Given the description of an element on the screen output the (x, y) to click on. 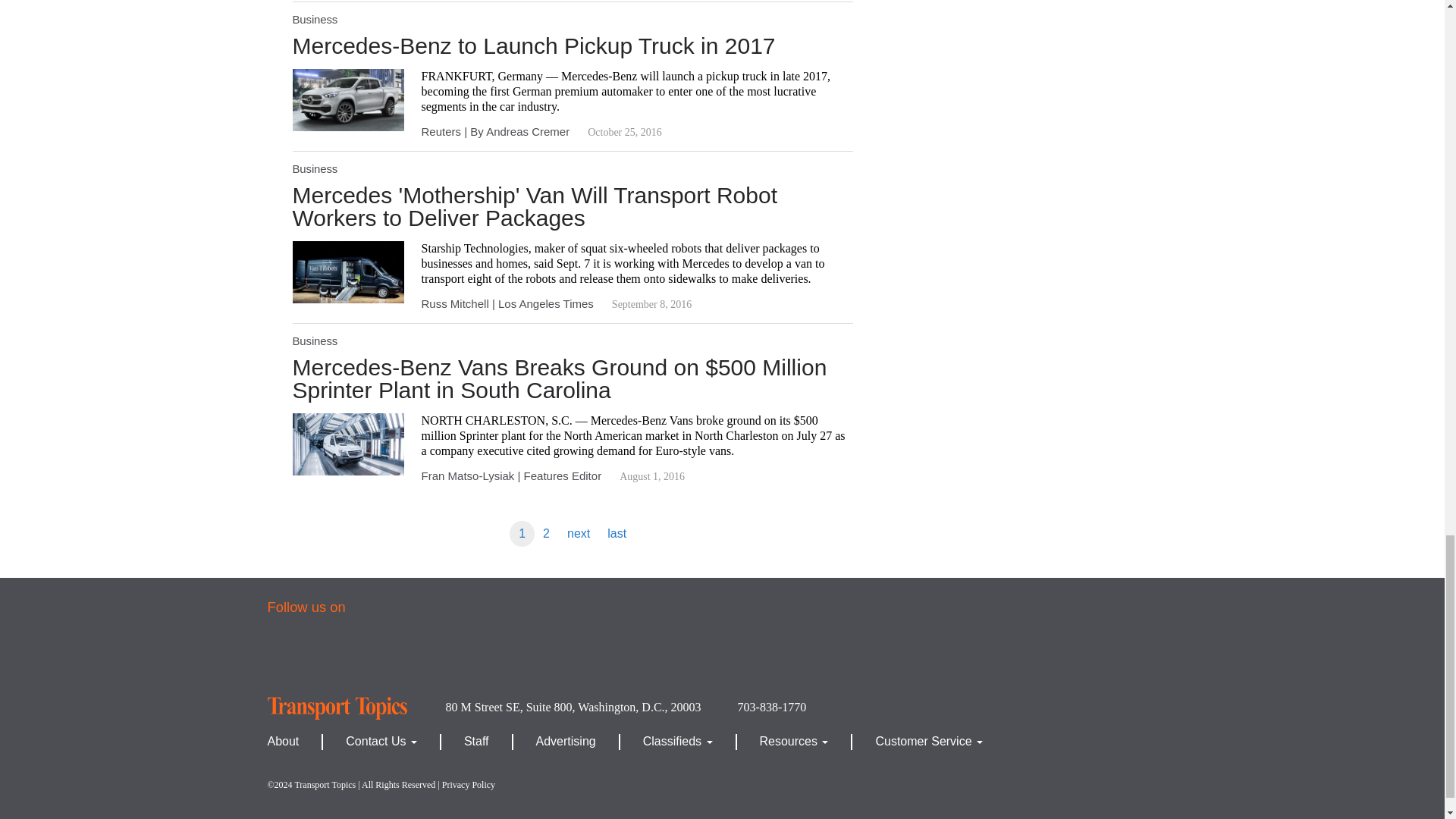
Follow us on YouTube (407, 655)
Go to page 2 (546, 533)
Follow us on LinkedIn (462, 655)
Go to last page (616, 533)
Current page (521, 533)
Follow us on Twitter (350, 655)
Follow us on Facebook (295, 655)
Go to next page (577, 533)
